Given the description of an element on the screen output the (x, y) to click on. 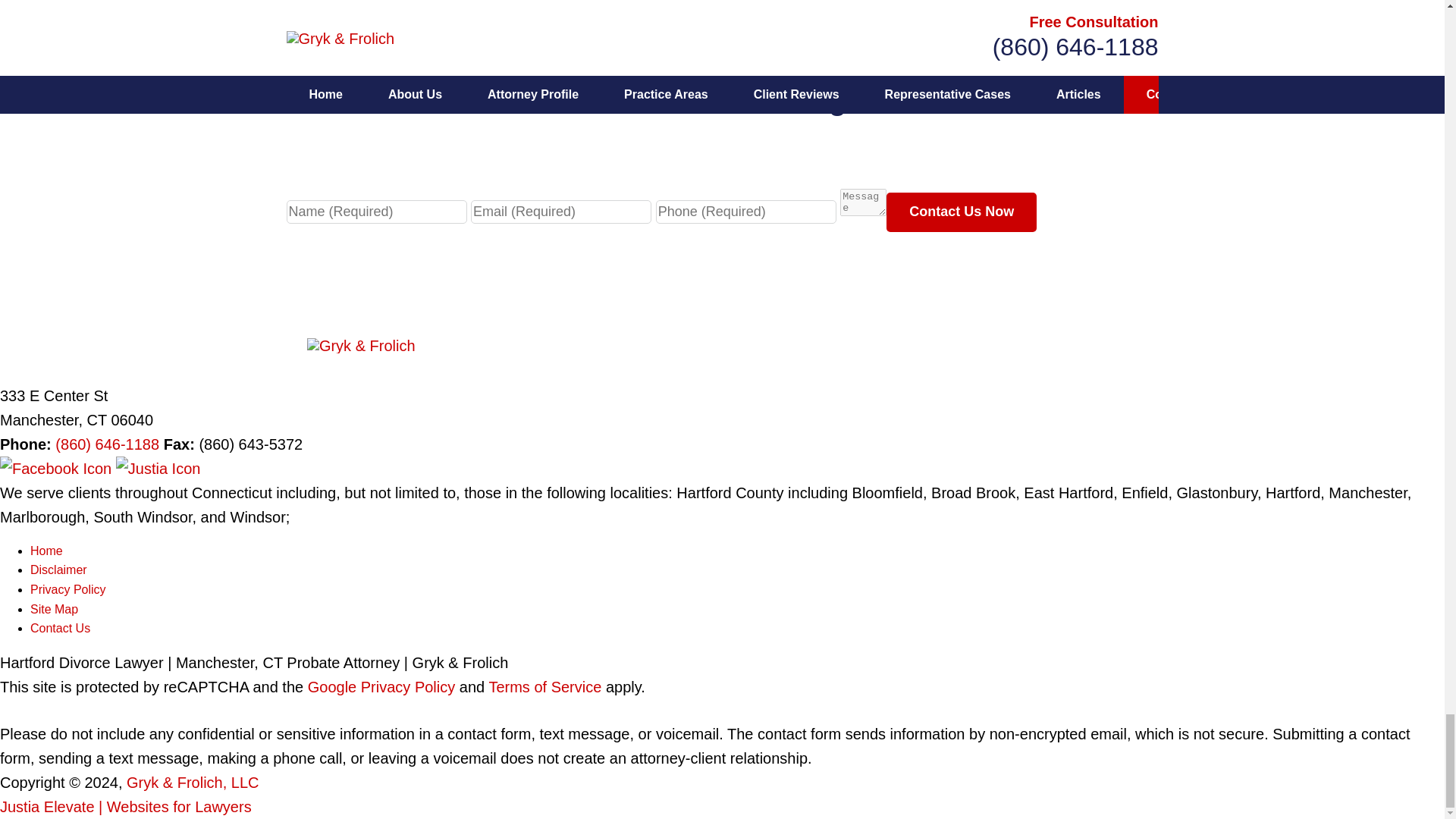
Home (46, 550)
Google Privacy Policy (381, 686)
Contact Us Now (961, 211)
Site Map (54, 608)
Contact Us (60, 627)
Facebook (58, 468)
Privacy Policy (68, 589)
Justia (158, 468)
Terms of Service (544, 686)
Disclaimer (58, 569)
